Given the description of an element on the screen output the (x, y) to click on. 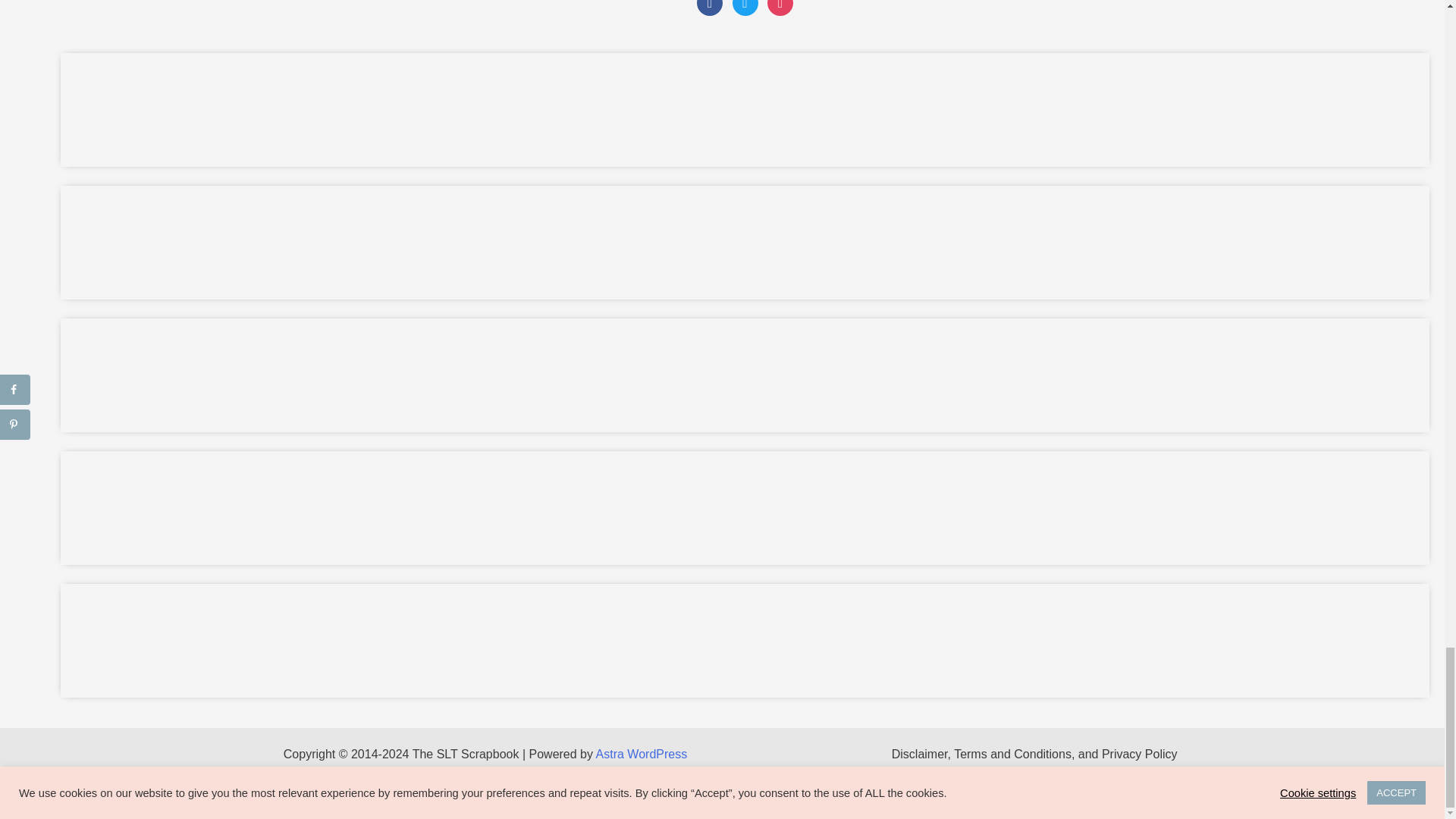
Instagram (780, 4)
Twitter (745, 4)
Facebook (709, 4)
